Given the description of an element on the screen output the (x, y) to click on. 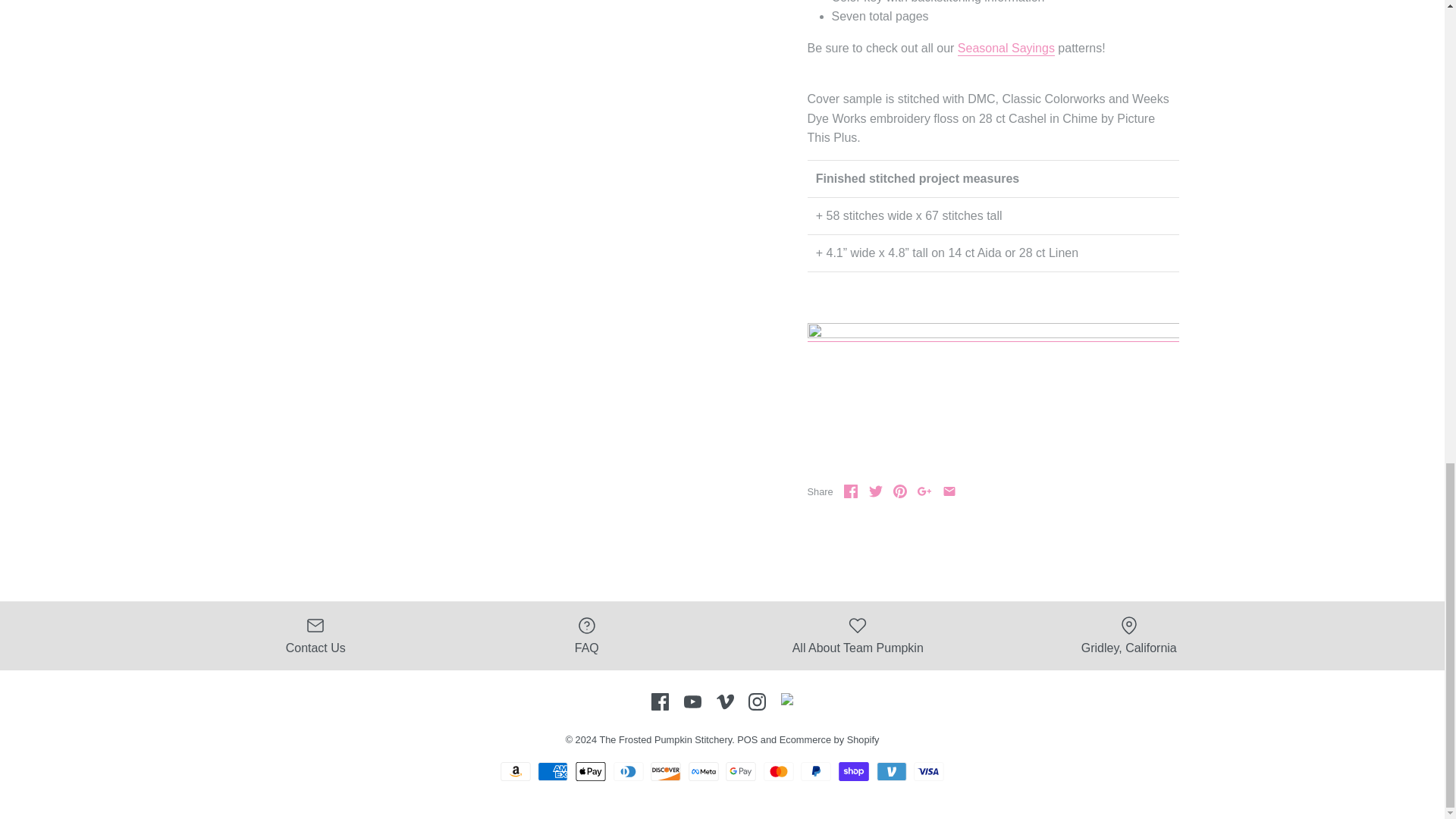
Facebook (850, 490)
Instagram (756, 701)
Email (949, 490)
Page 2 (991, 38)
Facebook (659, 701)
Youtube (692, 701)
Twitter (875, 490)
GooglePlus (924, 490)
Pinterest (900, 490)
Vimeo (724, 701)
